Given the description of an element on the screen output the (x, y) to click on. 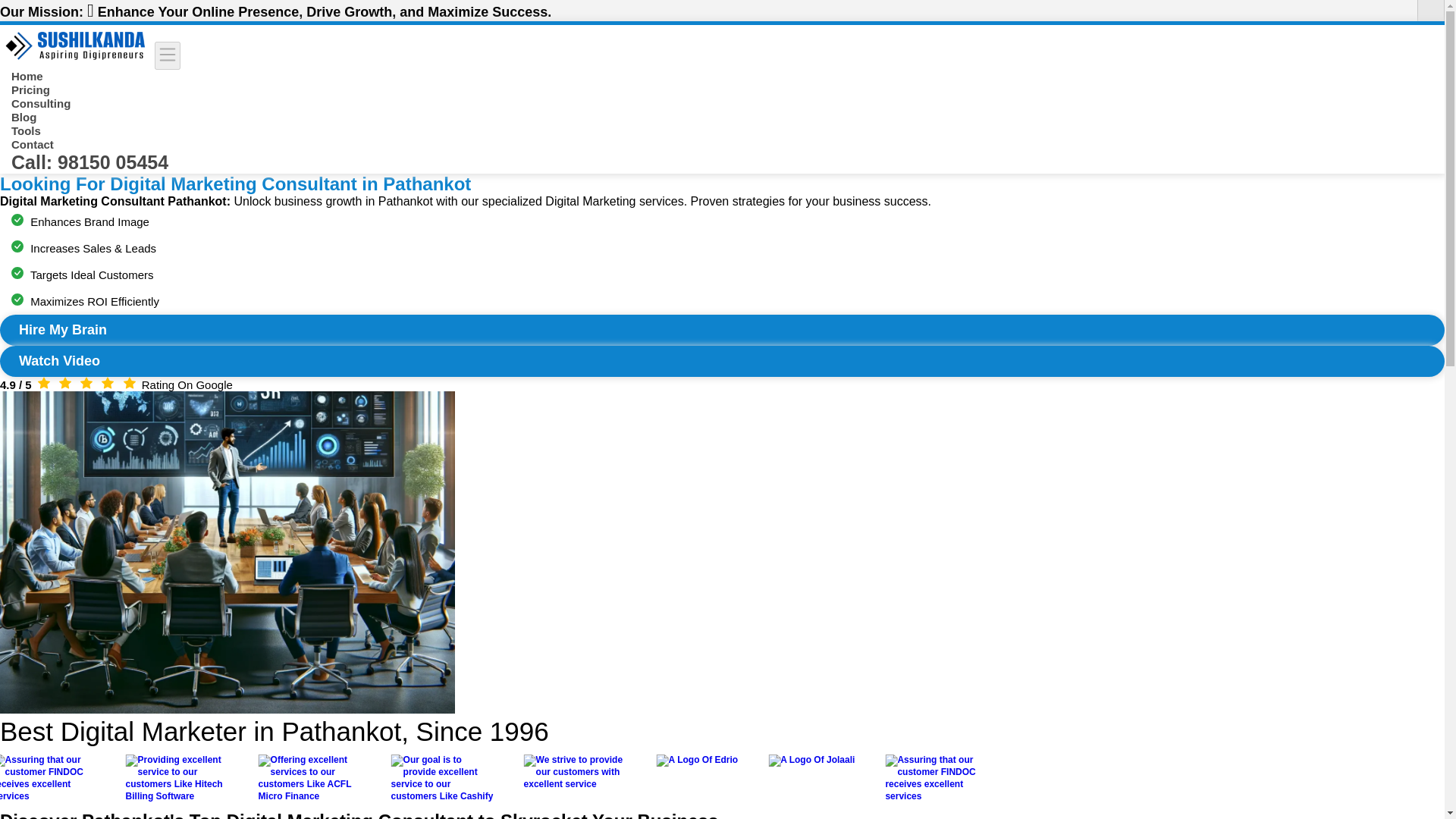
Home (27, 75)
Consulting (40, 103)
Contact (32, 144)
Call: 98150 05454 (89, 161)
A Logo Of Jolaali (811, 760)
Cashify's satisfied customers receive excellent services (442, 778)
Tools (26, 130)
We provide excellent services to our satisfied customers (575, 772)
Blog (24, 116)
Pricing (30, 89)
sushilKanda Logo (75, 45)
